Given the description of an element on the screen output the (x, y) to click on. 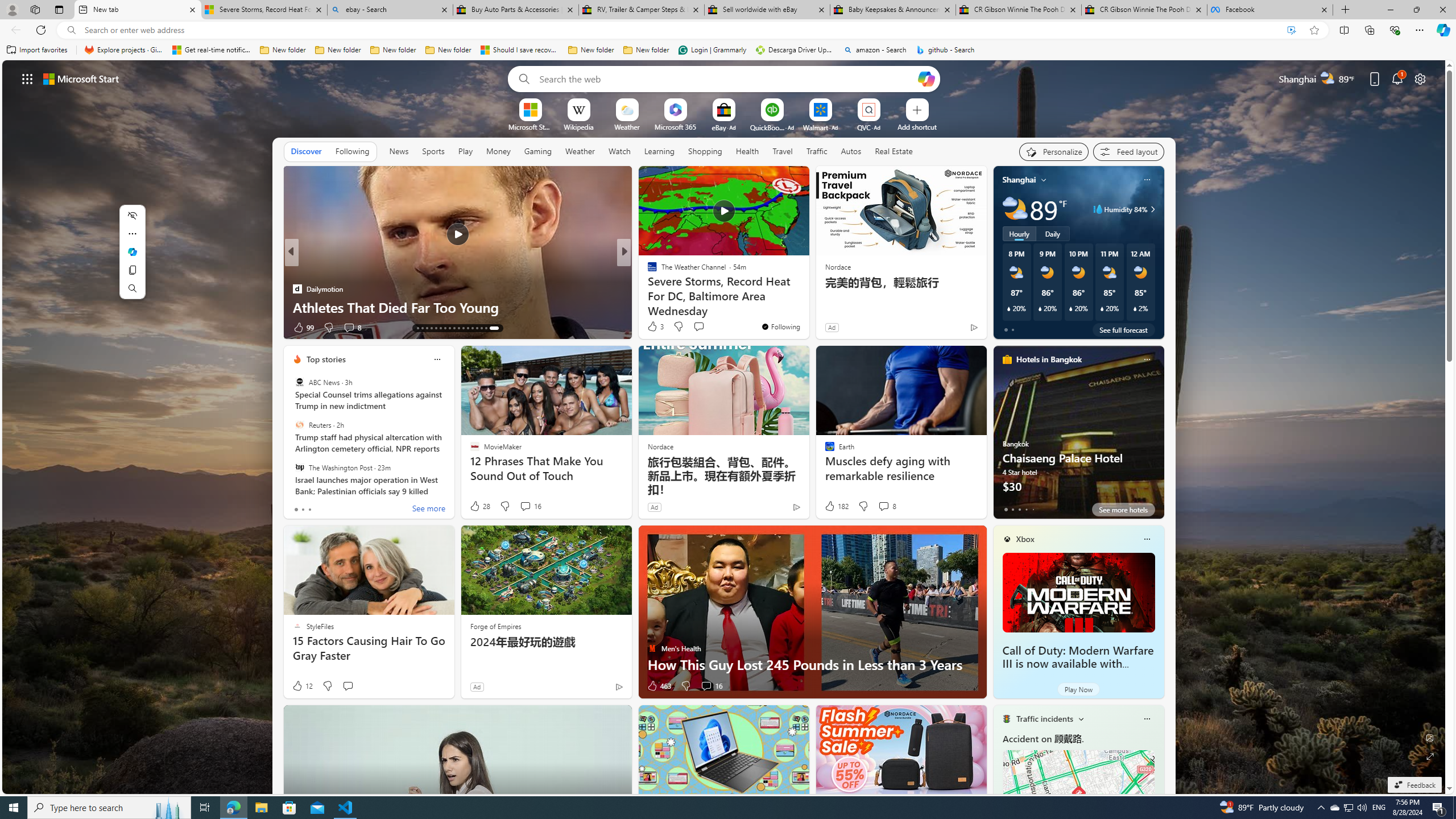
See more hotels (1123, 509)
Health (746, 151)
The History of the Windows Start Menu (807, 307)
116 Like (654, 327)
NBC News (647, 270)
Reuters (299, 424)
Verywell Mind (647, 288)
AutomationID: tab-16 (438, 328)
Weather (580, 151)
Should I save recovered Word documents? - Microsoft Support (519, 49)
AutomationID: tab-20 (456, 328)
Favorites bar (728, 49)
